Given the description of an element on the screen output the (x, y) to click on. 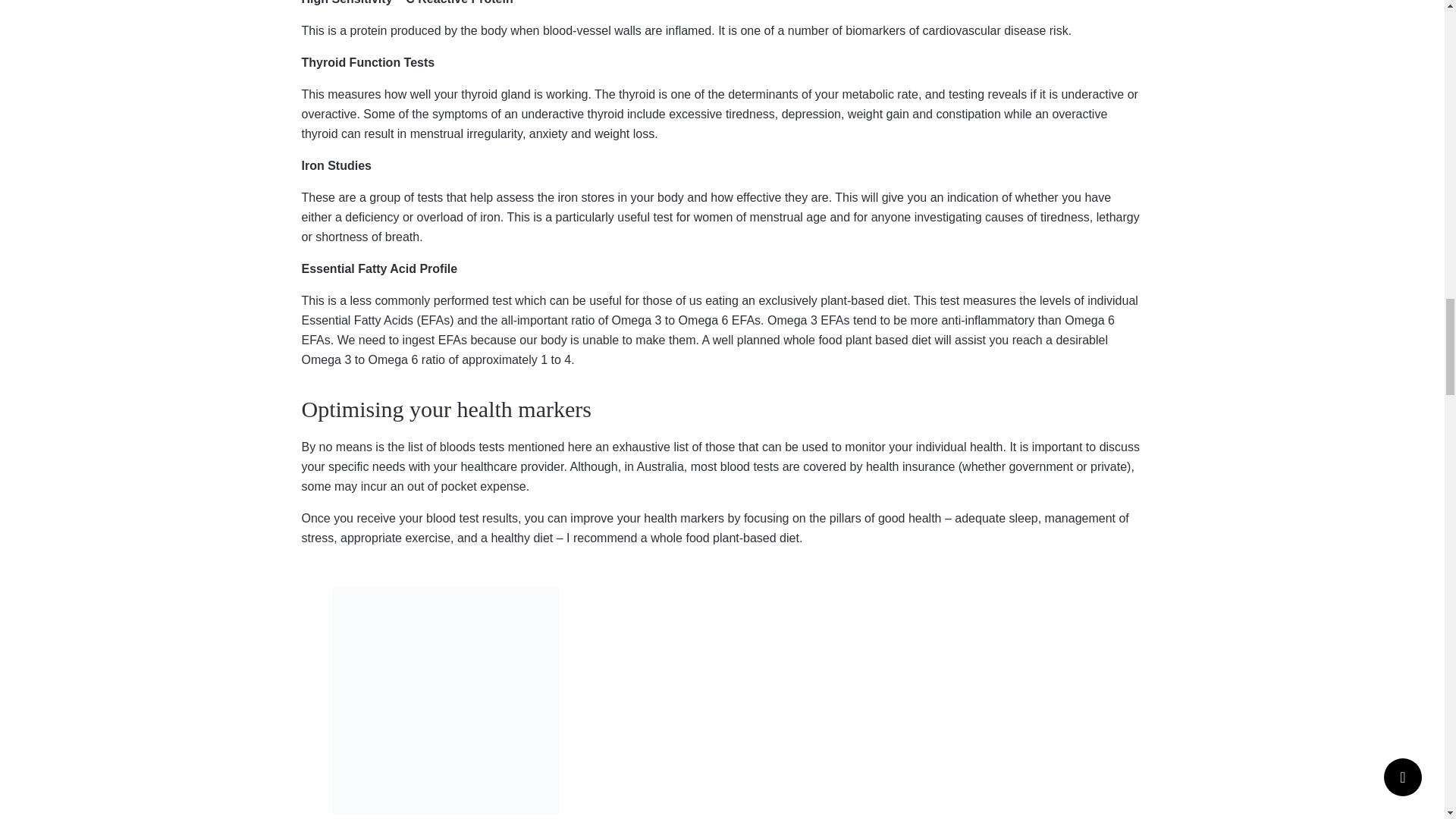
sun (445, 700)
